Given the description of an element on the screen output the (x, y) to click on. 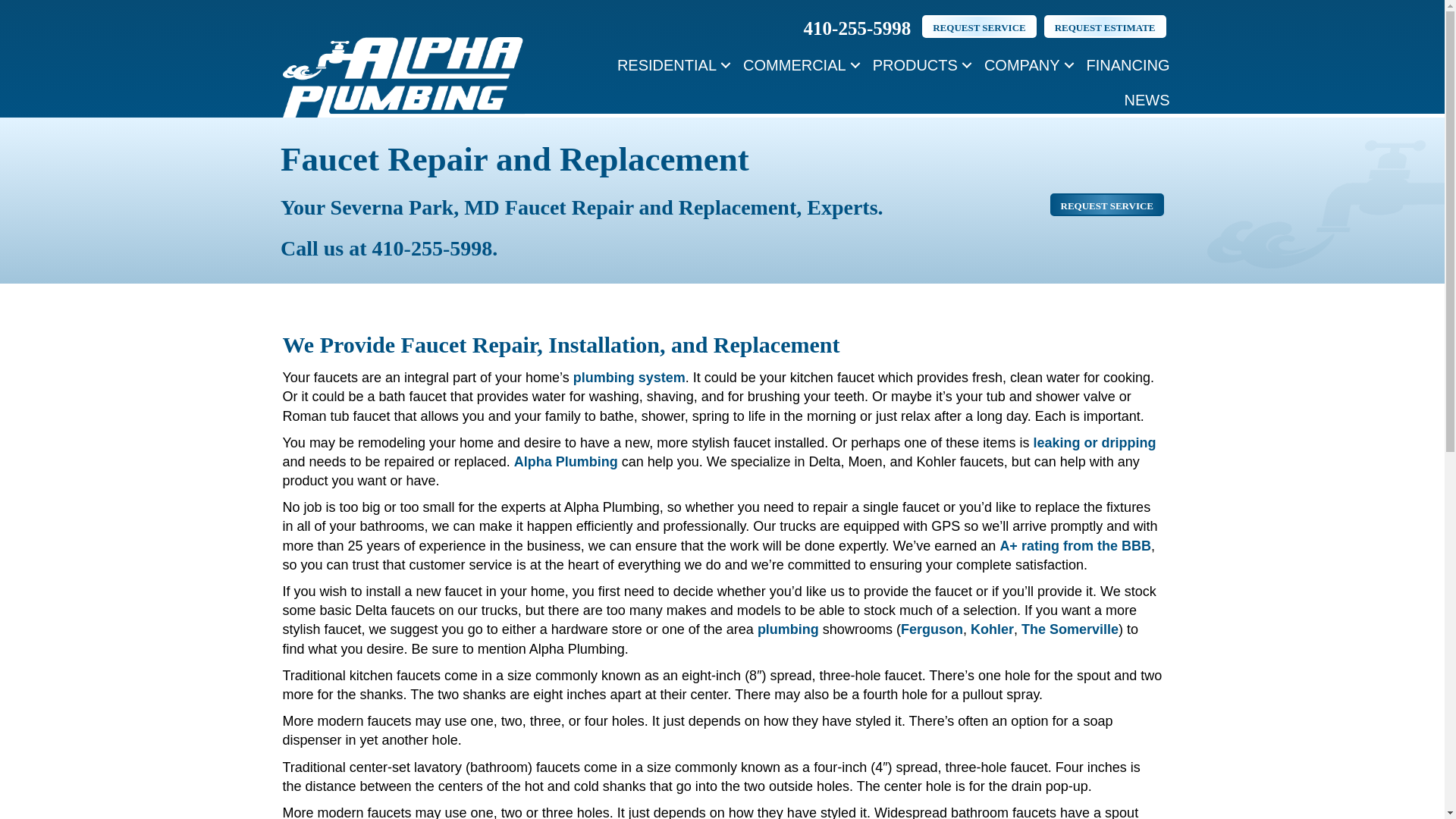
REQUEST ESTIMATE (1104, 26)
RESIDENTIAL (672, 64)
REQUEST SERVICE (978, 26)
COMMERCIAL (799, 64)
Alpha Logo - Header-clipped-2 (403, 76)
